Given the description of an element on the screen output the (x, y) to click on. 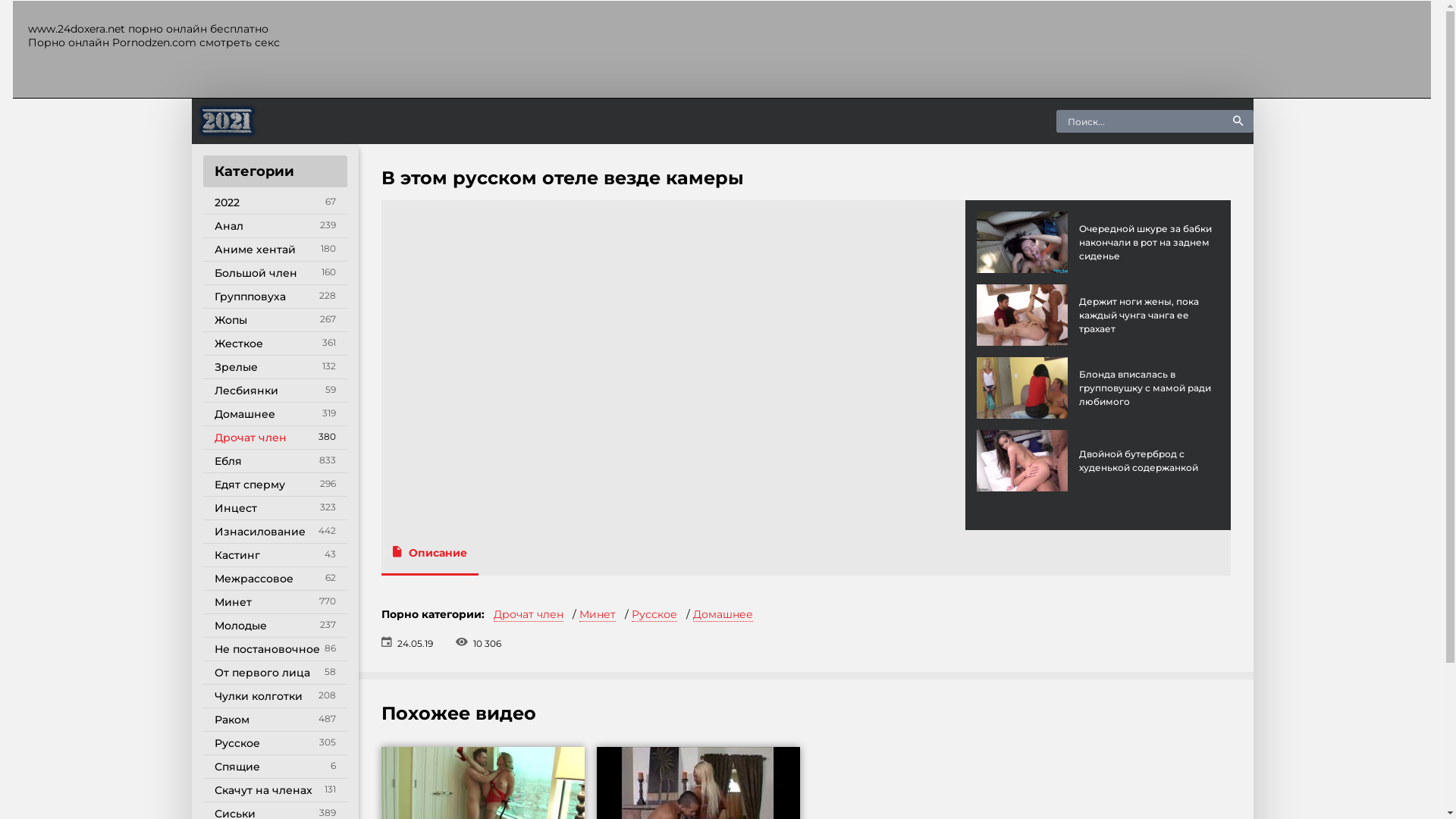
Pornodzen.com Element type: text (154, 42)
2022 Element type: text (275, 202)
